Given the description of an element on the screen output the (x, y) to click on. 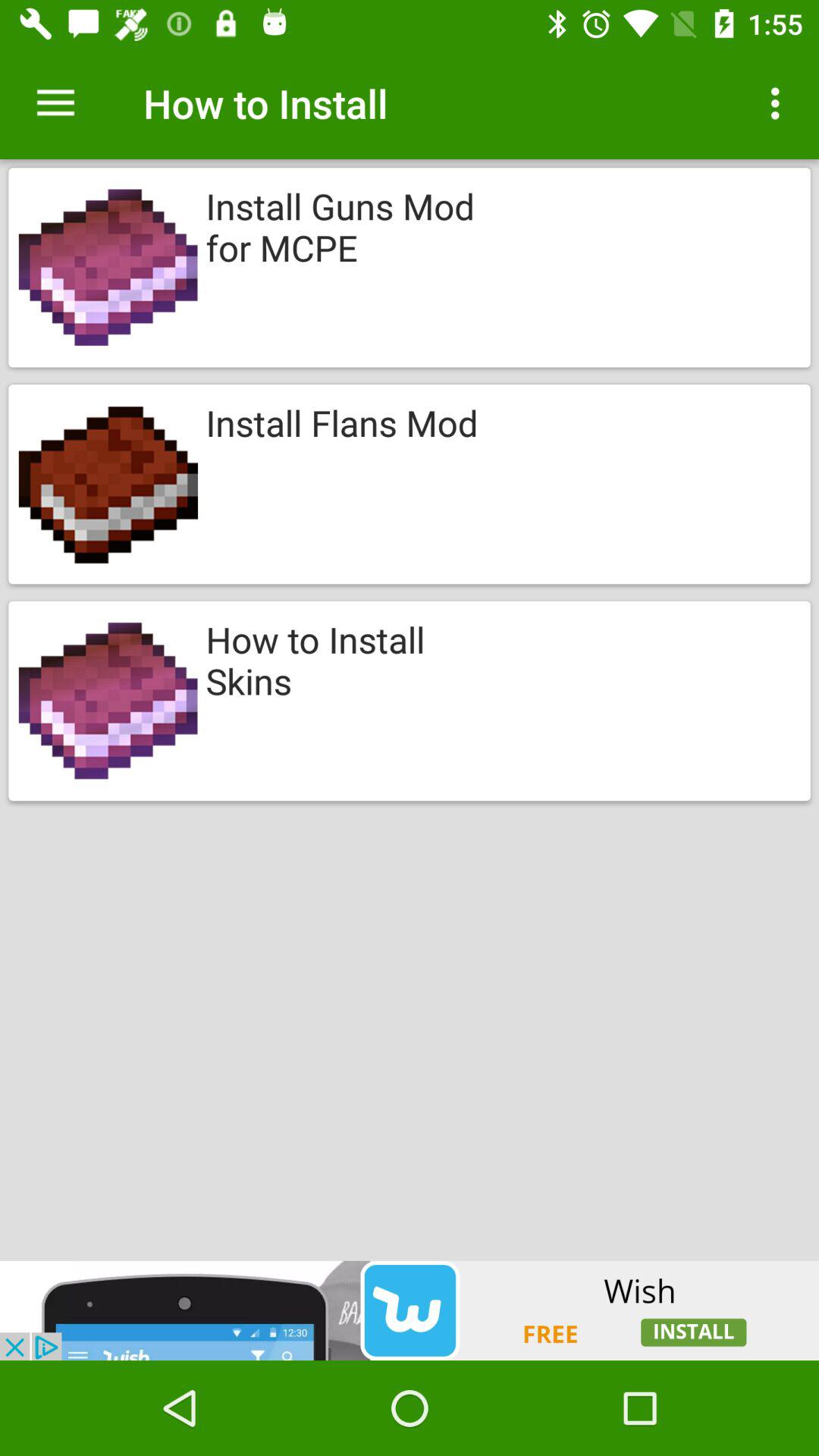
advertisement for wish (409, 1310)
